Given the description of an element on the screen output the (x, y) to click on. 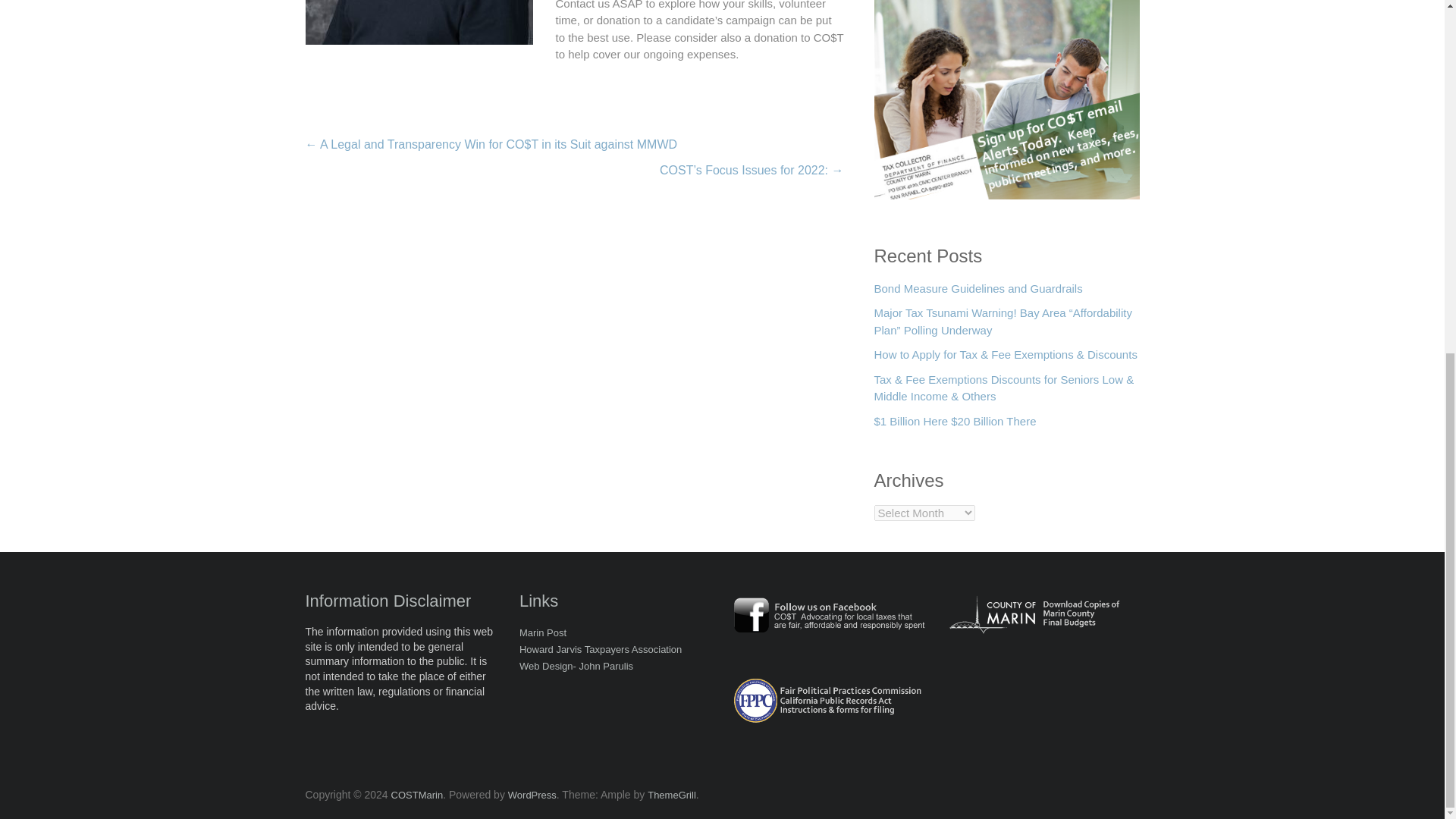
COSTMarin (417, 794)
ThemeGrill (671, 794)
WordPress (532, 794)
Bond Measure Guidelines and Guardrails (977, 292)
